Given the description of an element on the screen output the (x, y) to click on. 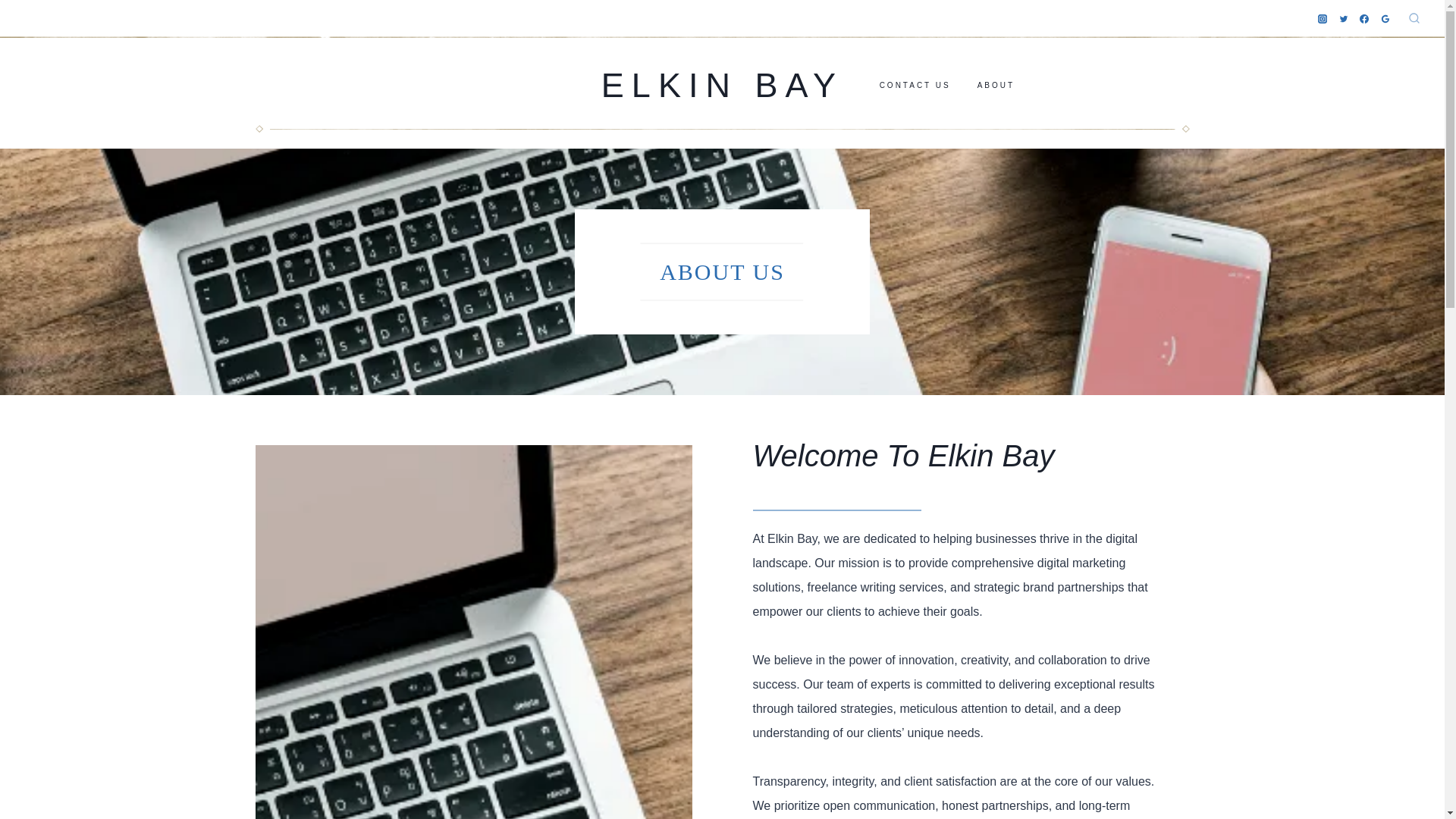
ABOUT (995, 84)
CONTACT US (914, 84)
ELKIN BAY (722, 85)
